Given the description of an element on the screen output the (x, y) to click on. 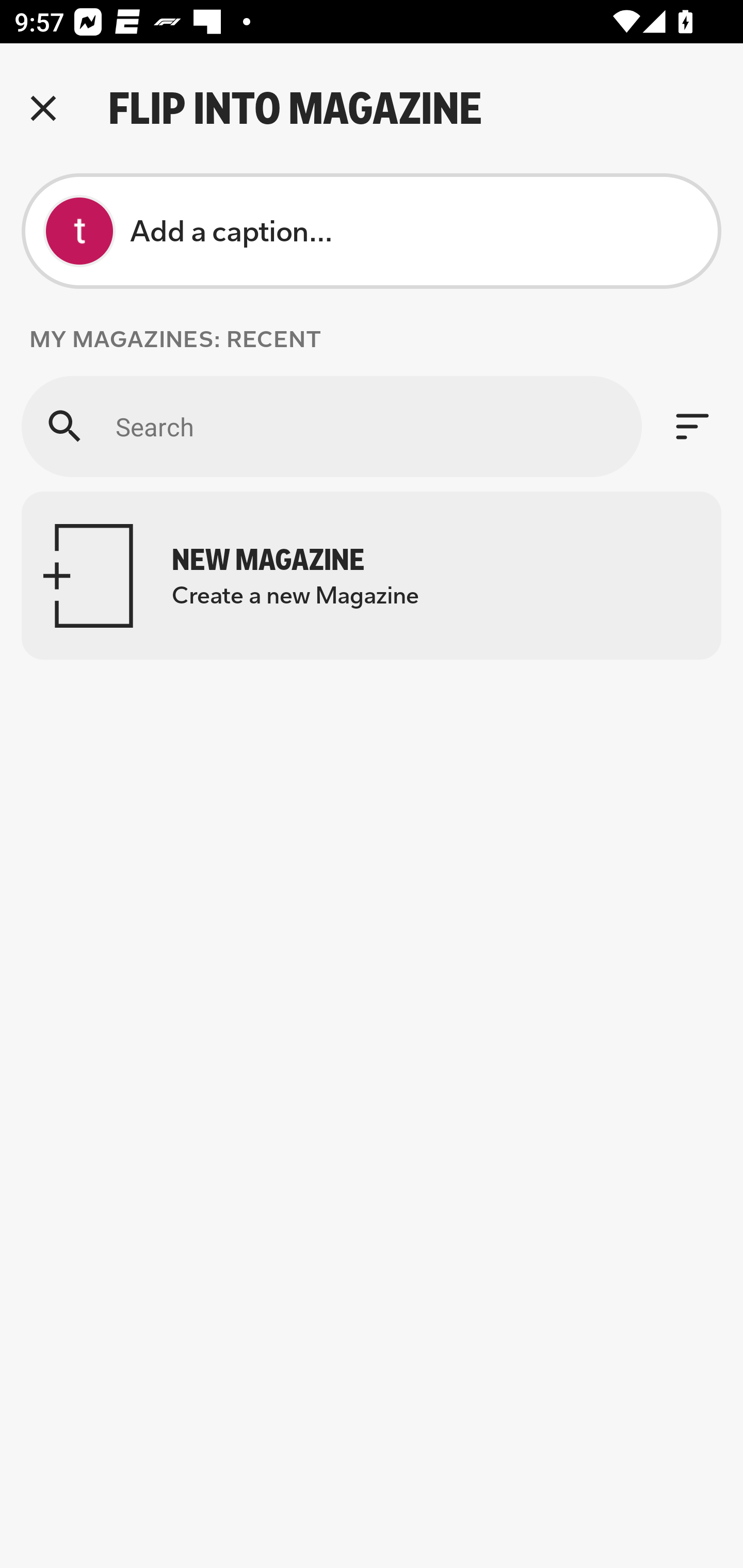
test appium Add a caption… (371, 231)
Search (331, 426)
NEW MAGAZINE Create a new Magazine (371, 575)
